Given the description of an element on the screen output the (x, y) to click on. 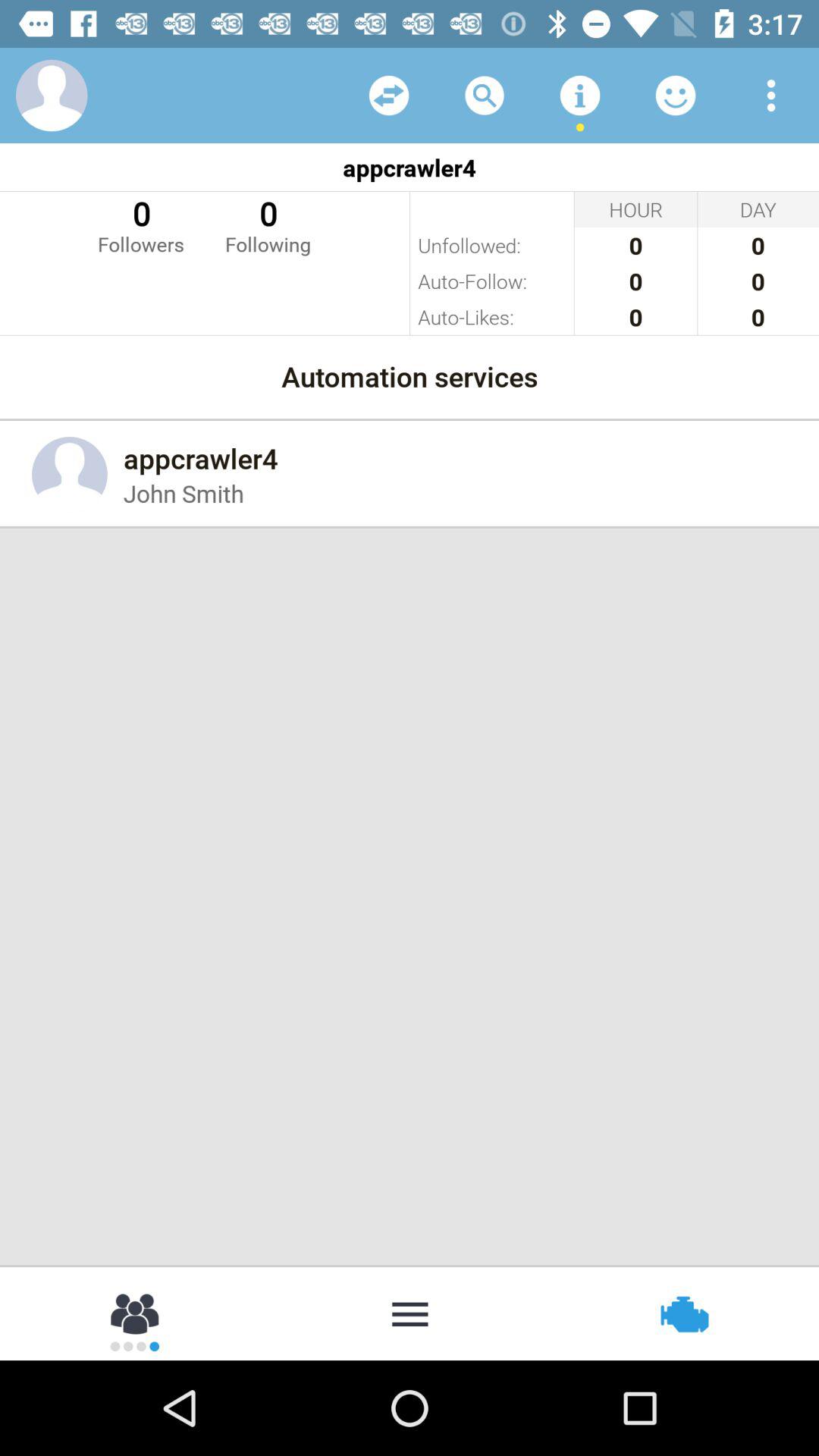
active emoji (675, 95)
